Given the description of an element on the screen output the (x, y) to click on. 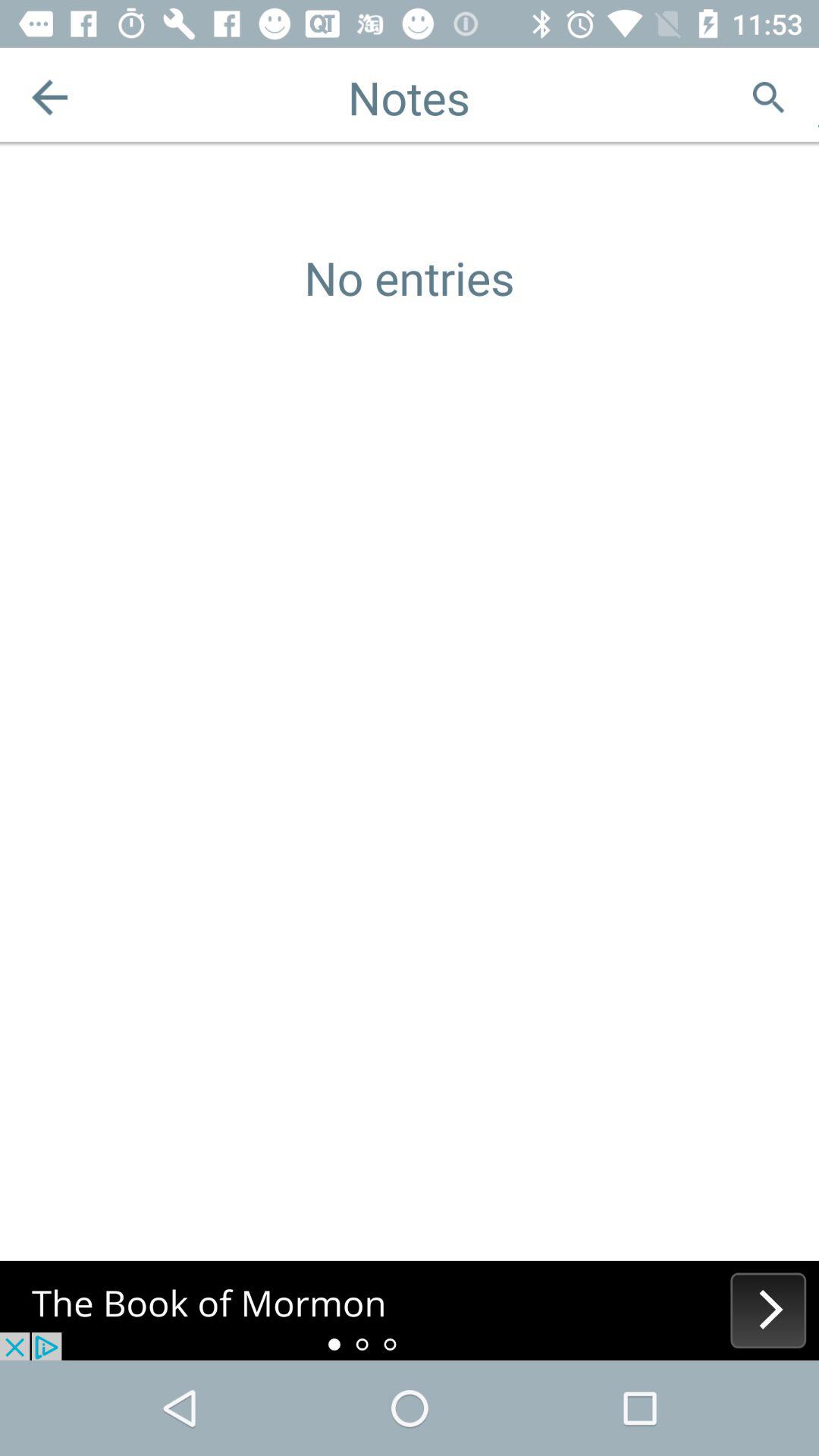
search button (768, 97)
